Given the description of an element on the screen output the (x, y) to click on. 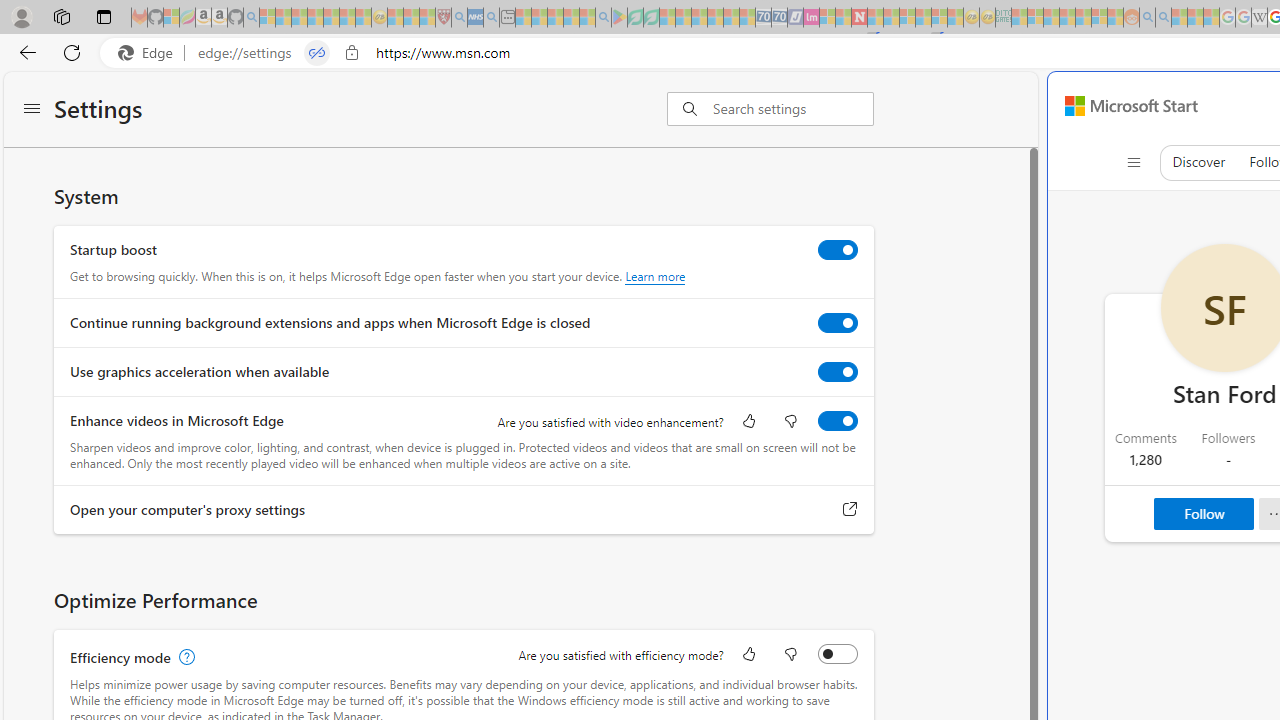
Target page - Wikipedia - Sleeping (1259, 17)
Efficiency mode, learn more (184, 657)
